Given the description of an element on the screen output the (x, y) to click on. 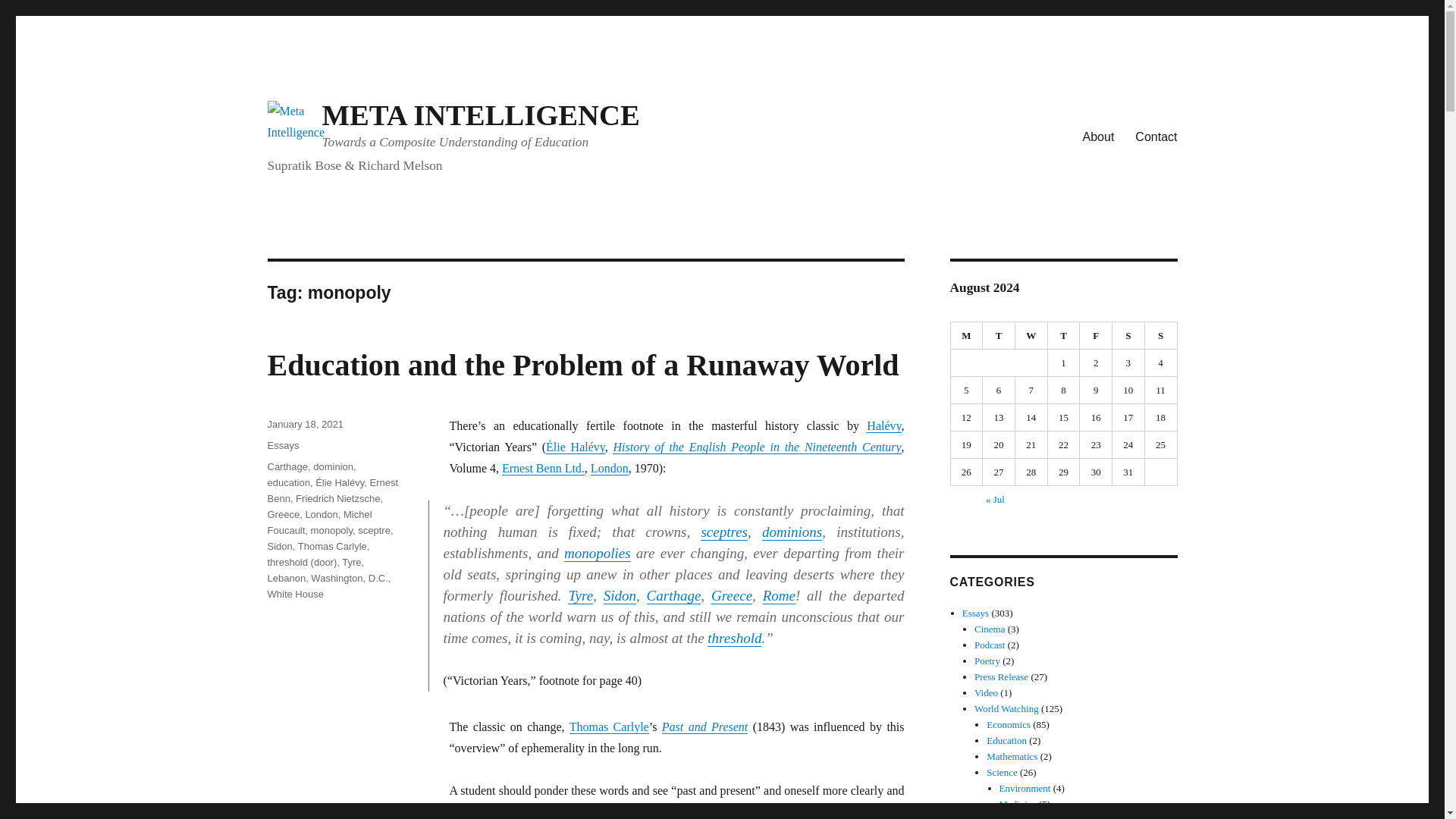
Sidon (620, 595)
Ernest Benn (331, 490)
Michel Foucault (318, 522)
Contact (1156, 137)
January 18, 2021 (304, 423)
Thomas Carlyle (609, 726)
London (609, 468)
Ernest Benn Ltd. (543, 468)
Greece (731, 595)
Education and the Problem of a Runaway World (582, 365)
